Given the description of an element on the screen output the (x, y) to click on. 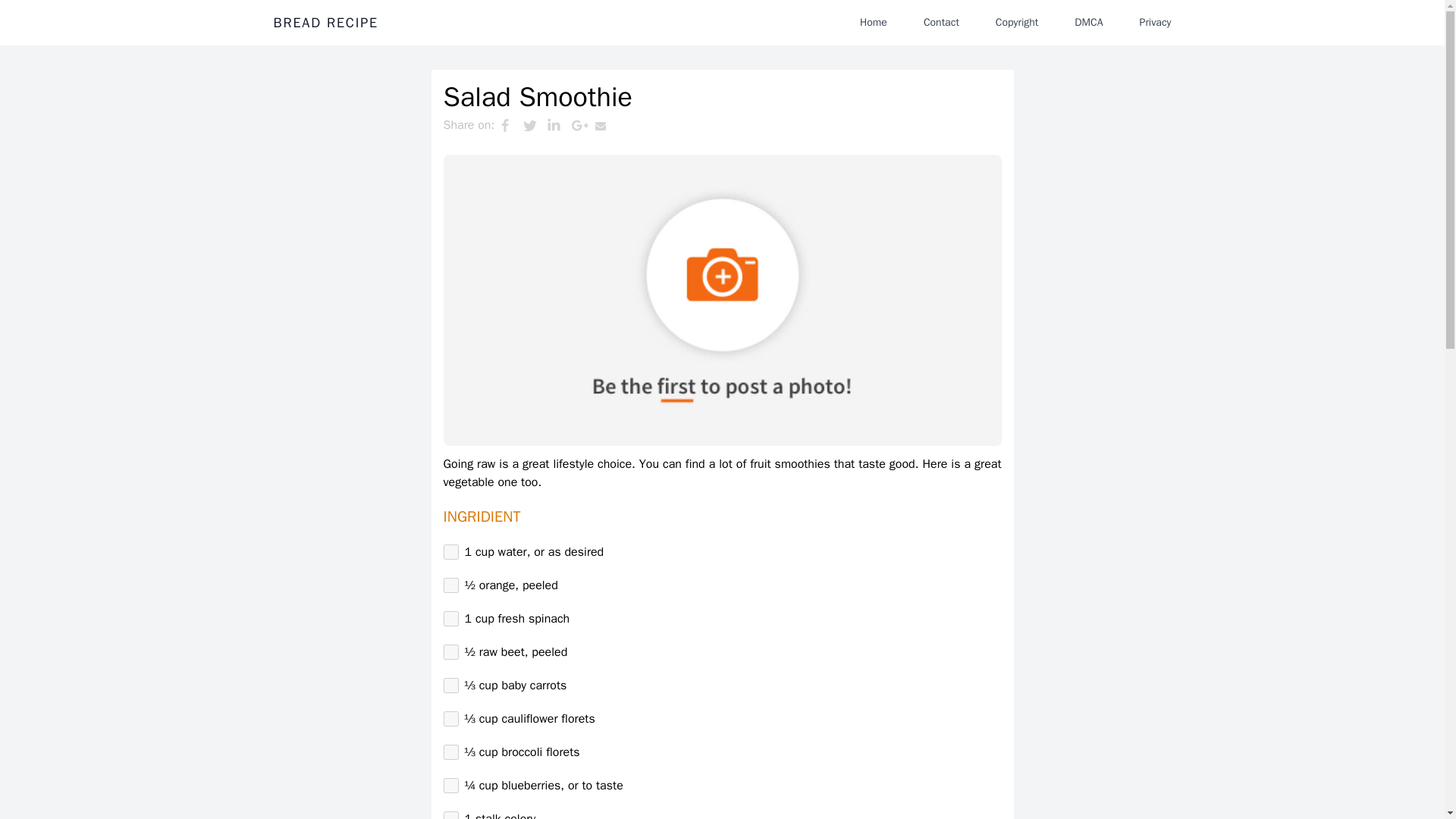
on (450, 551)
Share this on Linkedin (558, 125)
BREAD RECIPE (325, 22)
on (450, 785)
DMCA (1088, 22)
Copyright (1016, 22)
on (450, 752)
Share this through Email (607, 125)
Contact (941, 22)
on (450, 618)
